Given the description of an element on the screen output the (x, y) to click on. 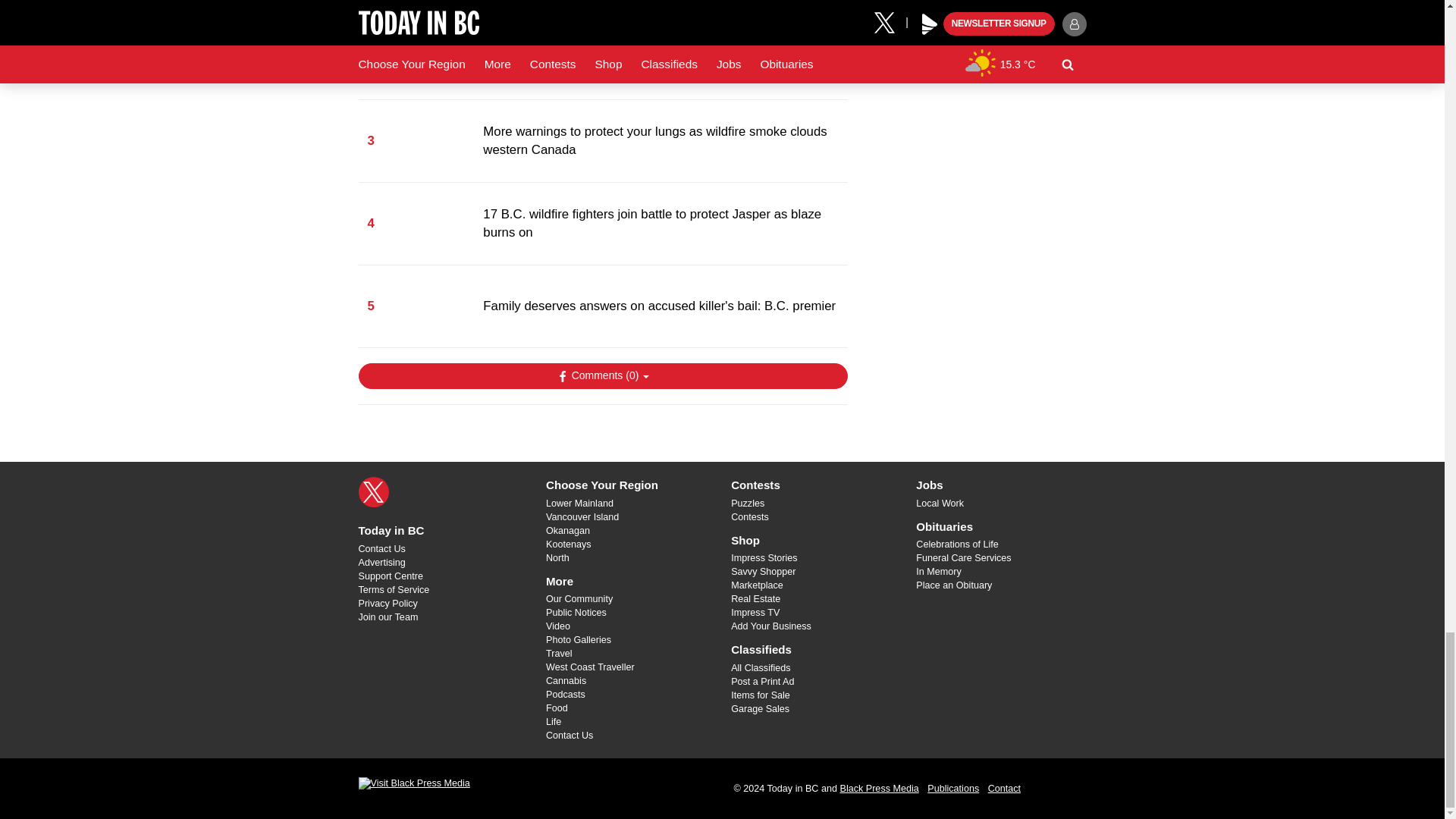
X (373, 491)
Show Comments (602, 376)
